Given the description of an element on the screen output the (x, y) to click on. 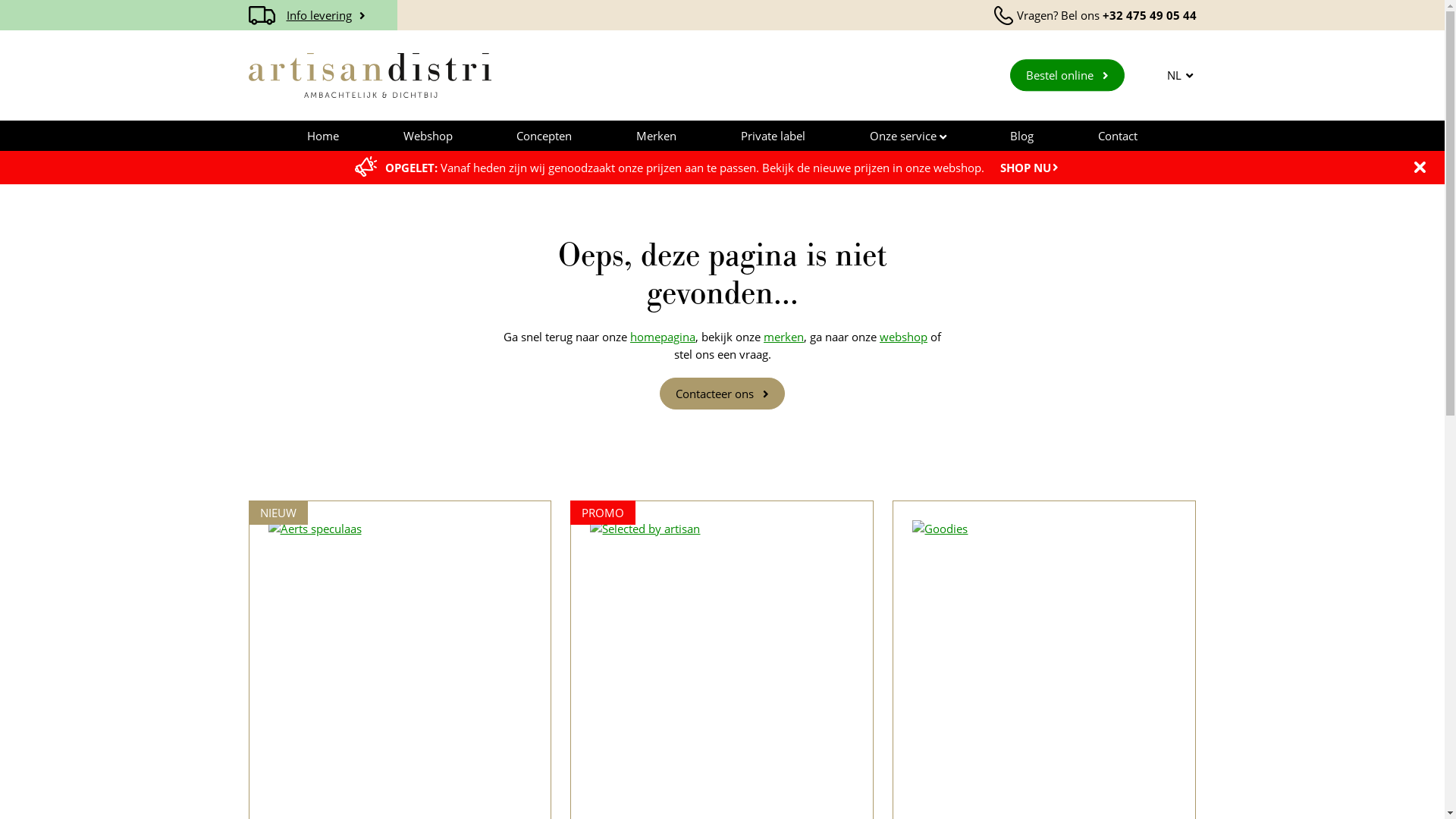
Contacteer ons Element type: text (721, 393)
Info levering Element type: text (322, 15)
webshop Element type: text (903, 336)
Concepten Element type: text (544, 135)
Bestel online Element type: text (1067, 75)
homepagina Element type: text (662, 336)
Home Element type: text (322, 135)
Merken Element type: text (655, 135)
Webshop Element type: text (428, 135)
+32 475 49 05 44 Element type: text (1149, 15)
Blog Element type: text (1021, 135)
Artisandistri Element type: hover (369, 75)
merken Element type: text (783, 336)
Contact Element type: text (1117, 135)
Onze service Element type: text (907, 135)
SHOP NU Element type: text (1029, 167)
Private label Element type: text (772, 135)
